Given the description of an element on the screen output the (x, y) to click on. 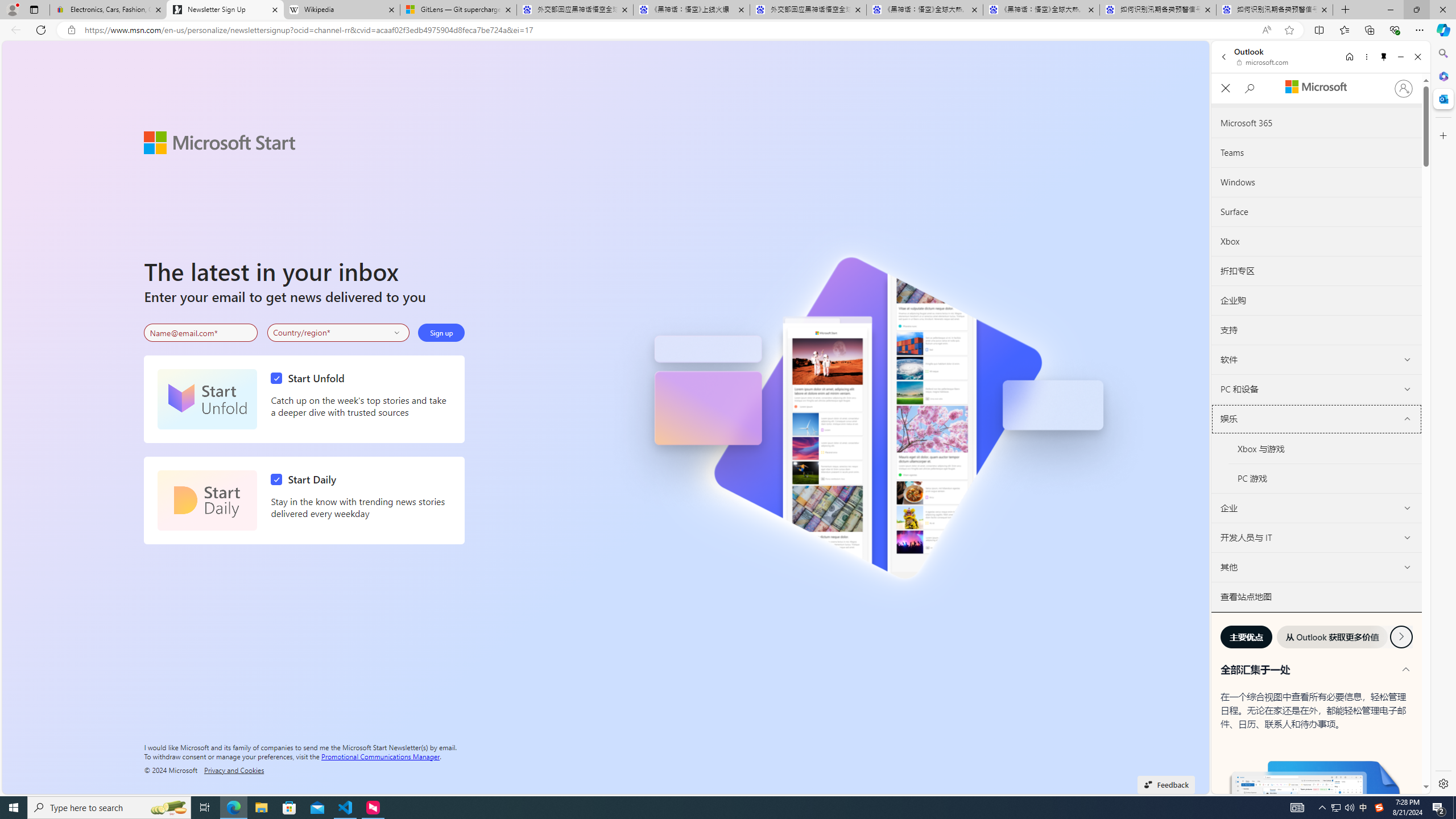
Surface (1316, 211)
Start Unfold (310, 378)
Unpin side pane (1383, 56)
Sign up (441, 332)
